Given the description of an element on the screen output the (x, y) to click on. 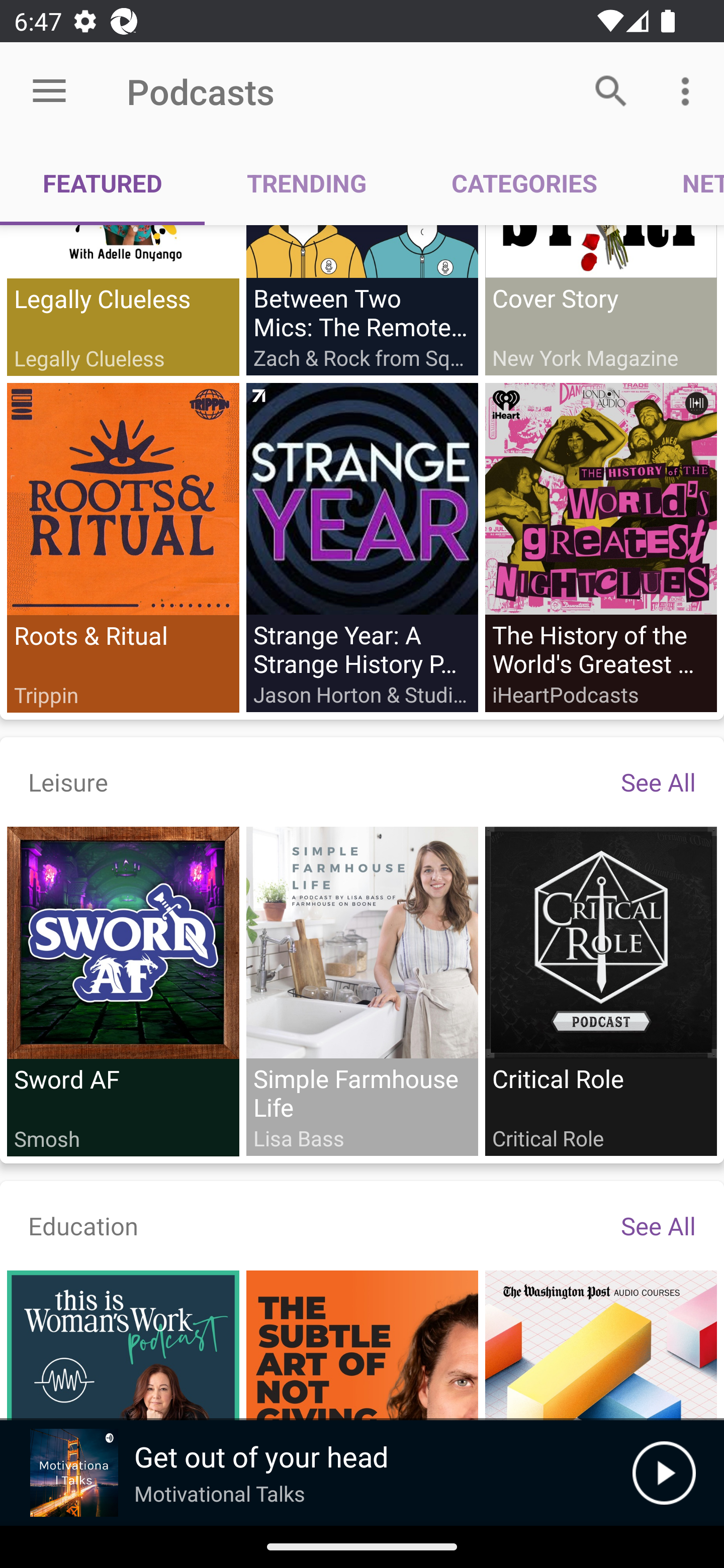
Open menu (49, 91)
Search (611, 90)
More options (688, 90)
FEATURED (102, 183)
TRENDING (306, 183)
CATEGORIES (524, 183)
Legally Clueless (123, 300)
Cover Story New York Magazine (600, 299)
Roots & Ritual Trippin (123, 546)
Leisure (67, 781)
See All (658, 781)
Sword AF Smosh (123, 991)
Simple Farmhouse Life Lisa Bass (361, 990)
Critical Role (600, 990)
Education (83, 1224)
See All (658, 1224)
Picture Get out of your head Motivational Talks (316, 1472)
Play (663, 1472)
